Given the description of an element on the screen output the (x, y) to click on. 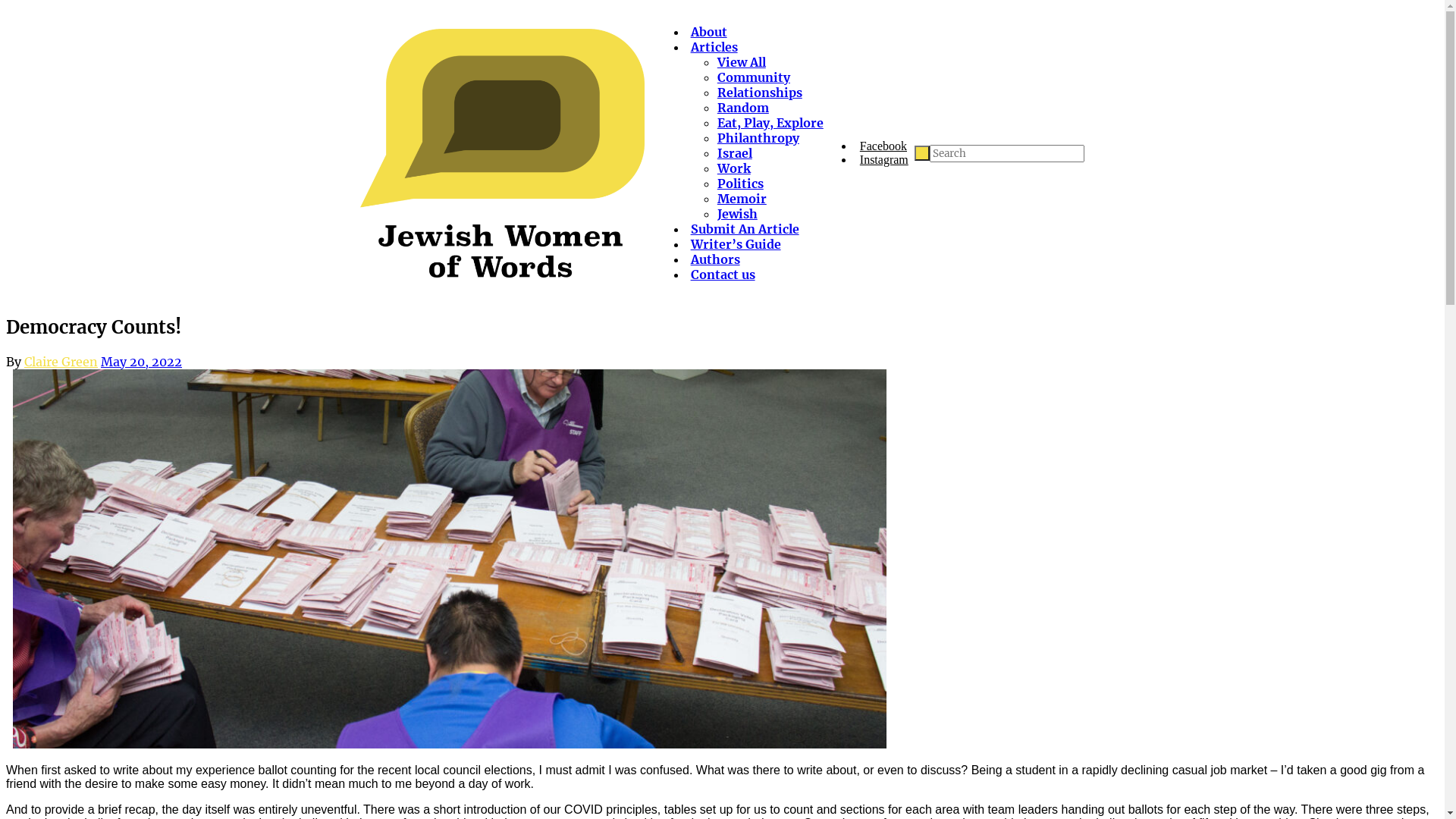
Contact us Element type: text (723, 274)
About Element type: text (709, 31)
Jewish Element type: text (737, 213)
Jewish Women of Words Element type: hover (502, 152)
View All Element type: text (741, 61)
Submit An Article Element type: text (745, 228)
Instagram Element type: text (883, 159)
Relationships Element type: text (759, 92)
Claire Green Element type: text (60, 361)
Work Element type: text (733, 167)
Articles Element type: text (714, 46)
Democracy Counts! Element type: hover (449, 558)
Facebook Element type: text (883, 145)
Authors Element type: text (715, 258)
Philanthropy Element type: text (758, 137)
Politics Element type: text (740, 183)
Eat, Play, Explore Element type: text (770, 122)
Random Element type: text (742, 107)
Israel Element type: text (734, 152)
Memoir Element type: text (741, 198)
May 20, 2022 Element type: text (141, 361)
Community Element type: text (753, 76)
